Given the description of an element on the screen output the (x, y) to click on. 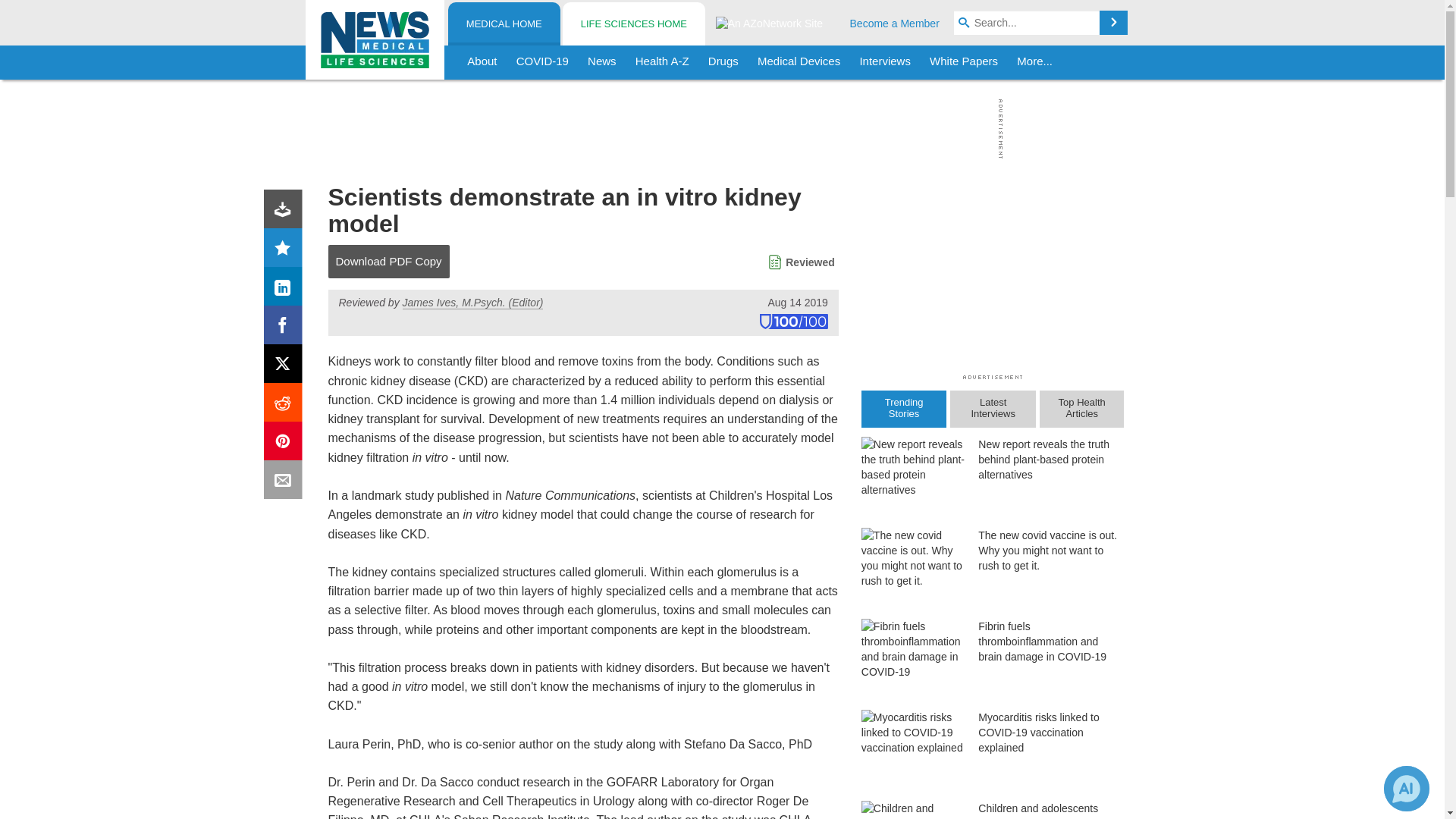
Drugs (722, 62)
Email (285, 483)
LIFE SCIENCES HOME (633, 23)
News (601, 62)
More... (1035, 62)
Rating (285, 250)
COVID-19 (542, 62)
X (285, 366)
Reddit (285, 405)
